Given the description of an element on the screen output the (x, y) to click on. 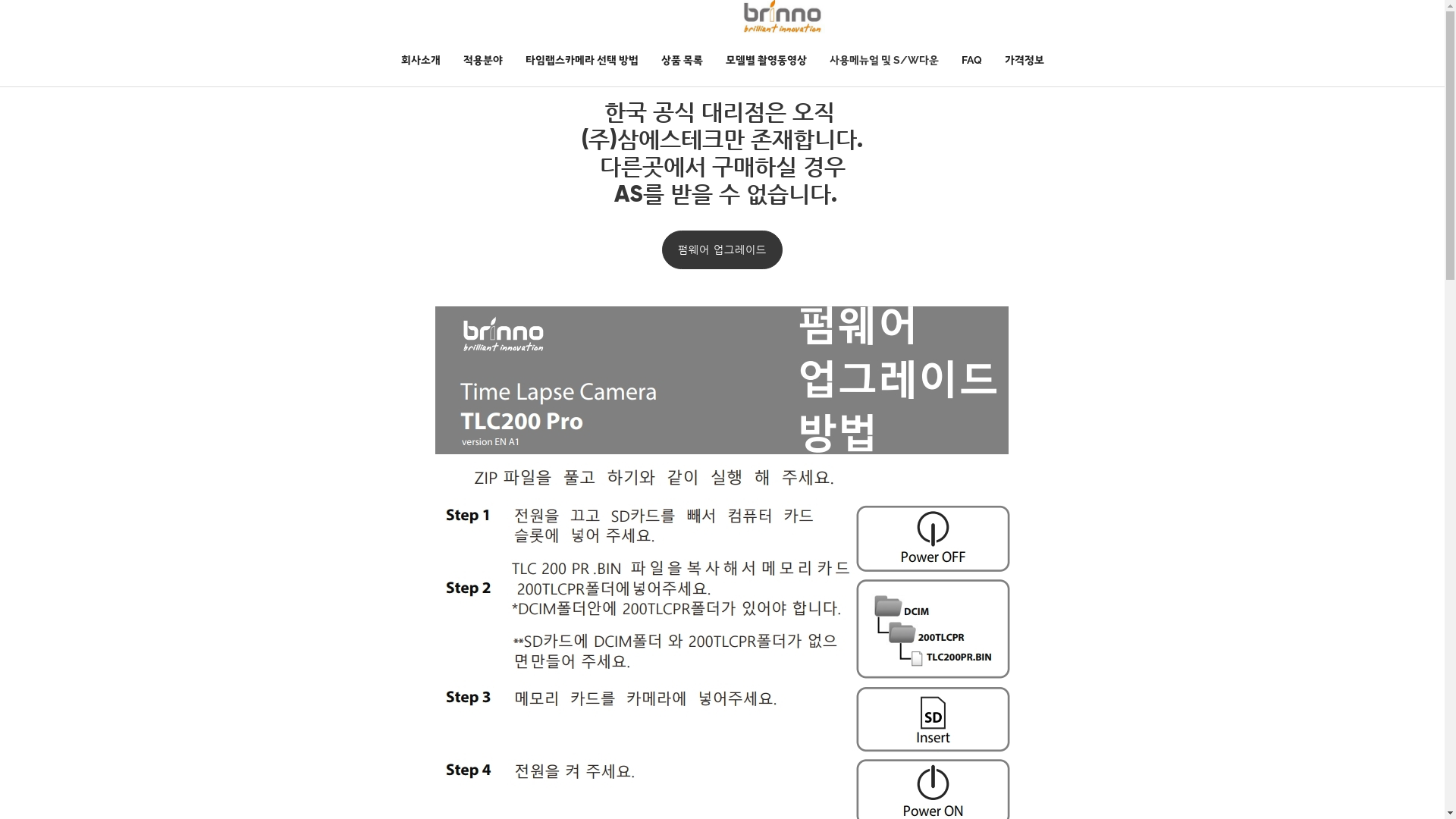
FAQ Element type: text (970, 59)
